Given the description of an element on the screen output the (x, y) to click on. 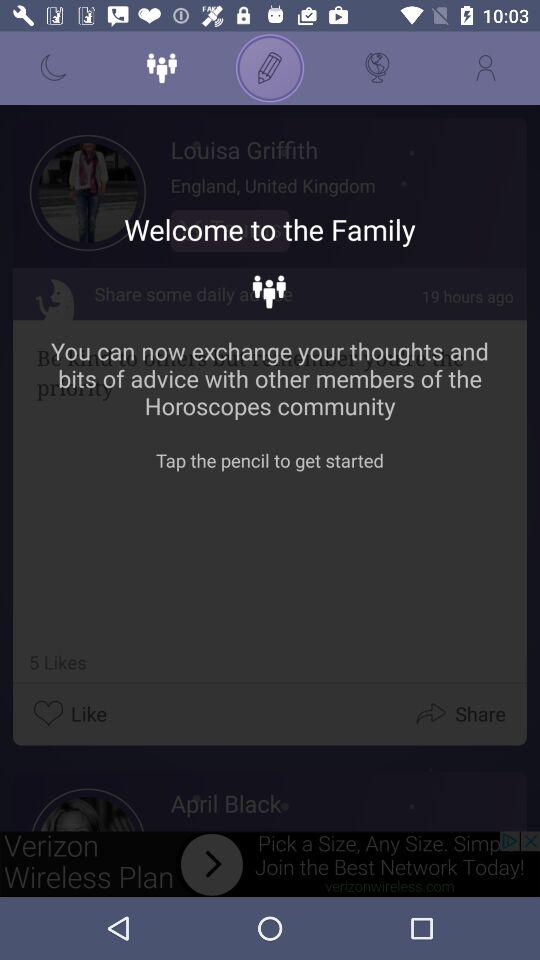
click on the icon which is top left corner (53, 67)
click on the white icon below welcome to the family (269, 291)
go to number of likes (53, 662)
click on the third button at top (269, 67)
